Given the description of an element on the screen output the (x, y) to click on. 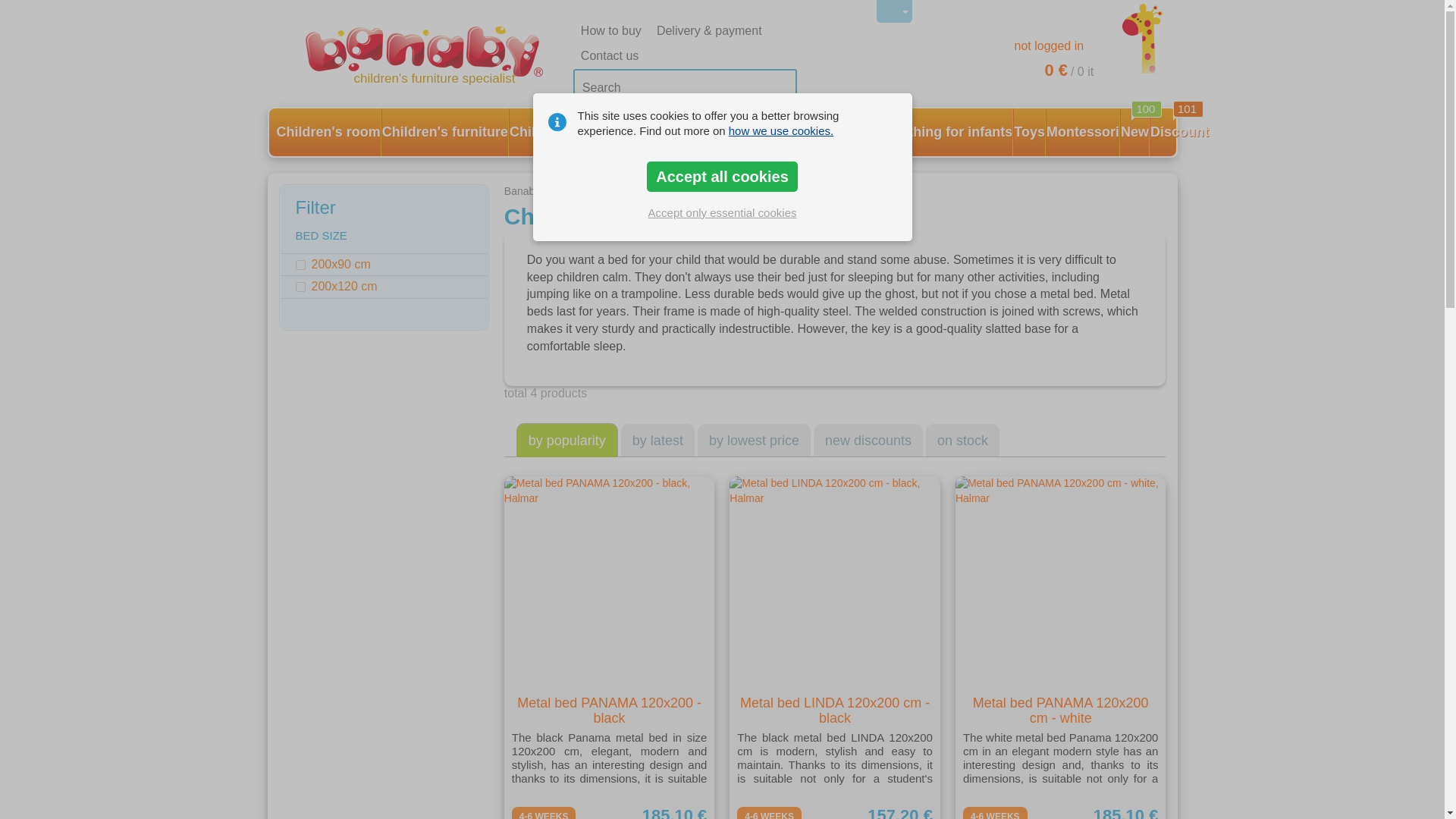
OK (777, 87)
children's furniture specialist (434, 56)
not logged in (1044, 46)
How to buy (607, 31)
Children's room (328, 132)
Contact us (606, 56)
back to root - banaby.ie (434, 56)
Search (684, 87)
Search (684, 87)
